Given the description of an element on the screen output the (x, y) to click on. 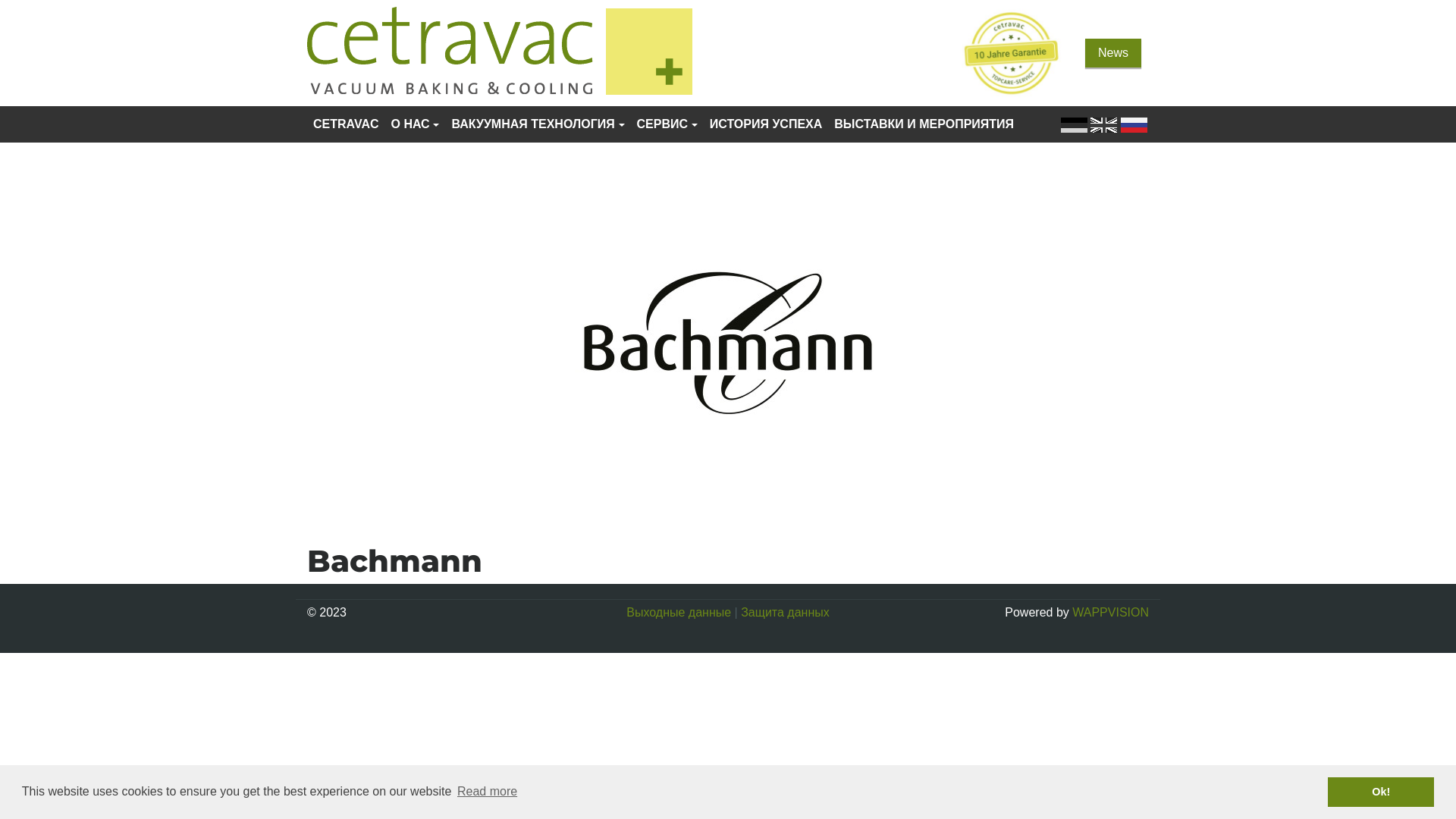
WAPPVISION Element type: text (1110, 611)
CETRAVAC Element type: text (346, 124)
English Element type: hover (1103, 124)
Ok! Element type: text (1380, 791)
Read more Element type: text (487, 791)
News Element type: text (1113, 52)
Deutsch Element type: hover (1073, 124)
Deutsch Element type: hover (1075, 123)
English Element type: hover (1105, 123)
